Given the description of an element on the screen output the (x, y) to click on. 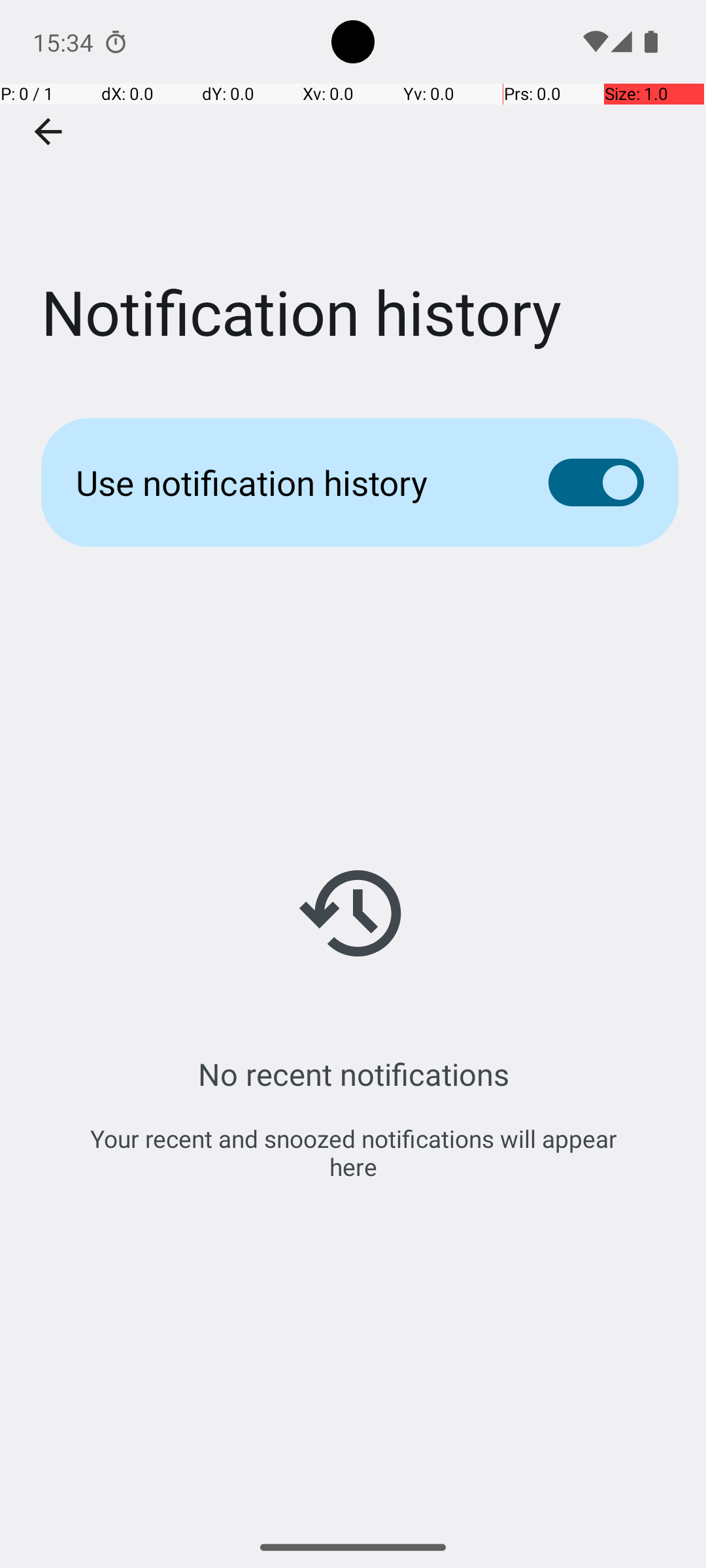
No recent notifications Element type: android.widget.TextView (352, 1073)
Your recent and snoozed notifications will appear here Element type: android.widget.TextView (352, 1152)
